Given the description of an element on the screen output the (x, y) to click on. 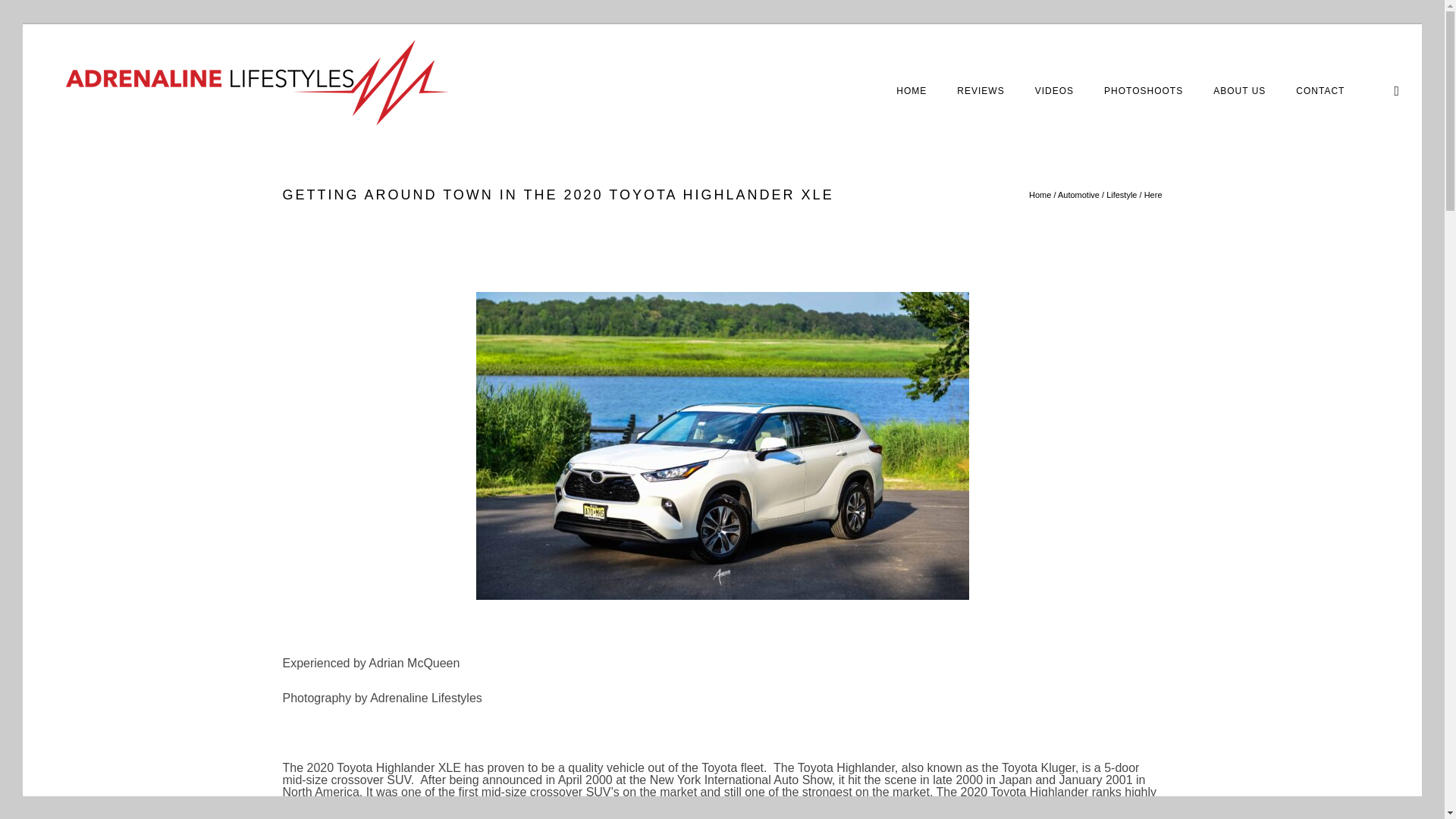
VIDEOS (1054, 90)
Reviews (980, 90)
REVIEWS (980, 90)
Contact (1320, 90)
ABOUT US (1239, 90)
PHOTOSHOOTS (1143, 90)
Videos (1054, 90)
Home (911, 90)
Automotive (1078, 194)
Lifestyle (1121, 194)
